Given the description of an element on the screen output the (x, y) to click on. 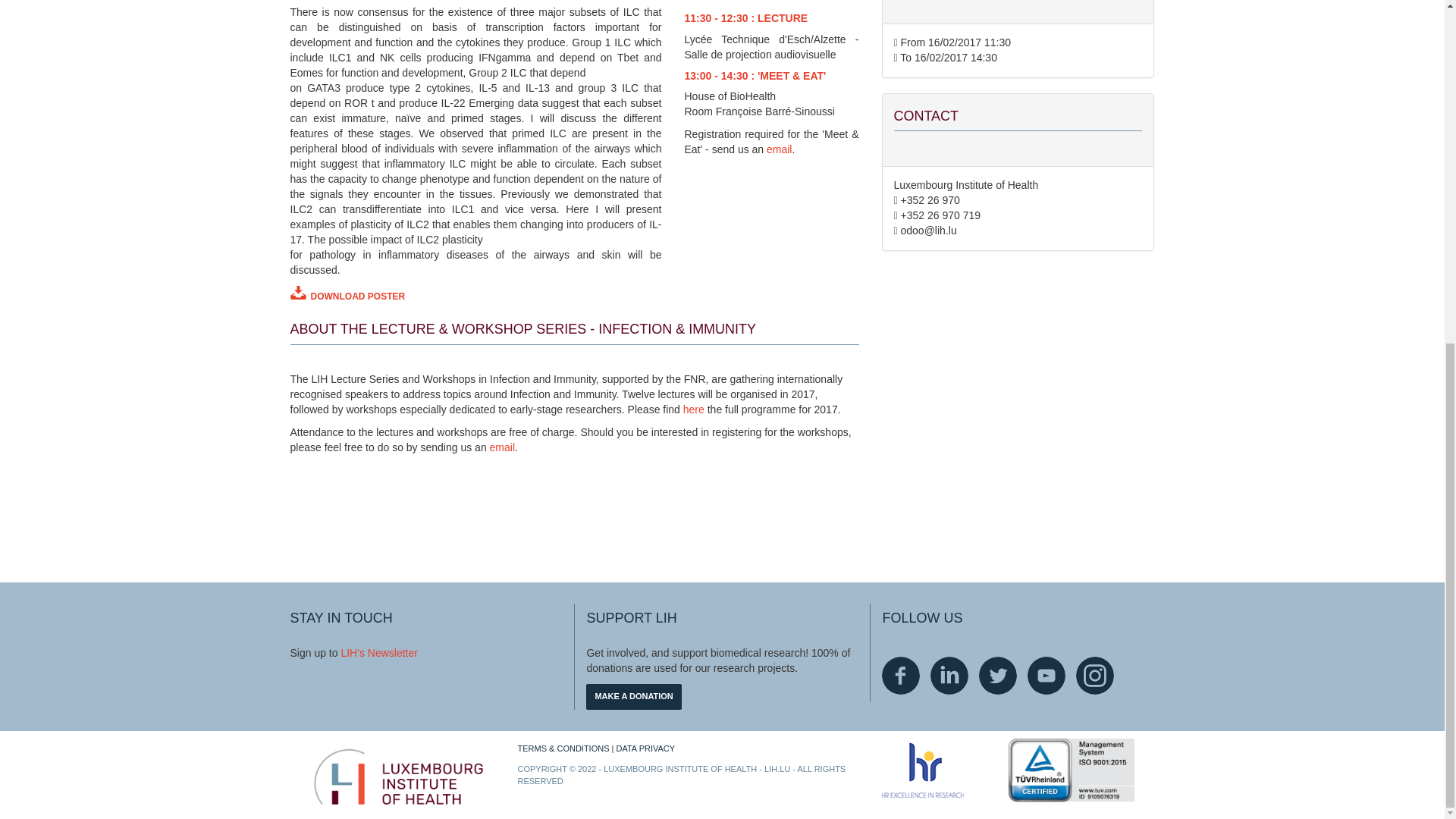
DOWNLOAD POSTER (475, 294)
email (502, 447)
LIH (348, 653)
Twitter (997, 675)
Instagram (1094, 675)
Facebook (901, 675)
Luxembourg Institute of Health (398, 777)
Linkedin (949, 675)
DATA PRIVACY (645, 747)
MAKE A DONATION (633, 696)
Youtube (1046, 675)
here (693, 409)
email (779, 149)
's Newsletter (386, 653)
